Given the description of an element on the screen output the (x, y) to click on. 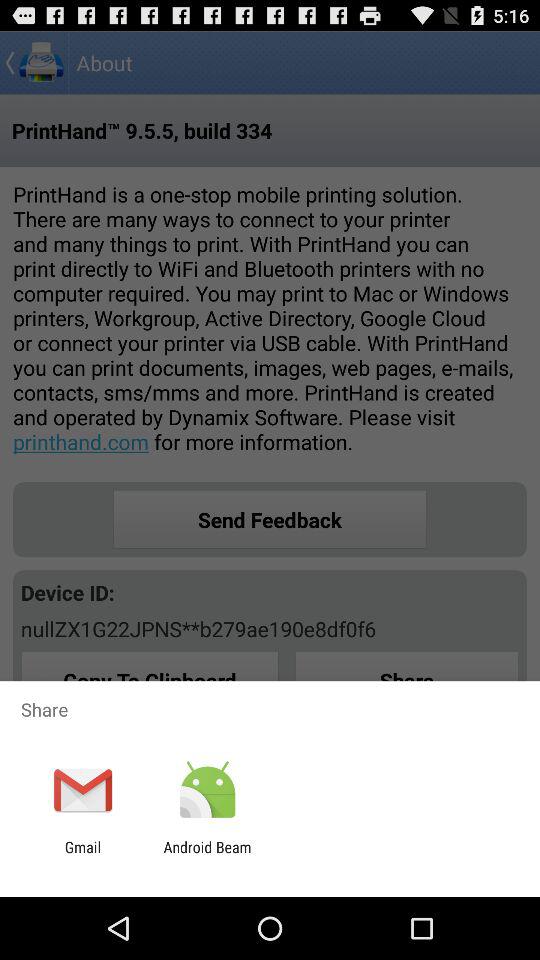
choose the gmail (82, 856)
